Given the description of an element on the screen output the (x, y) to click on. 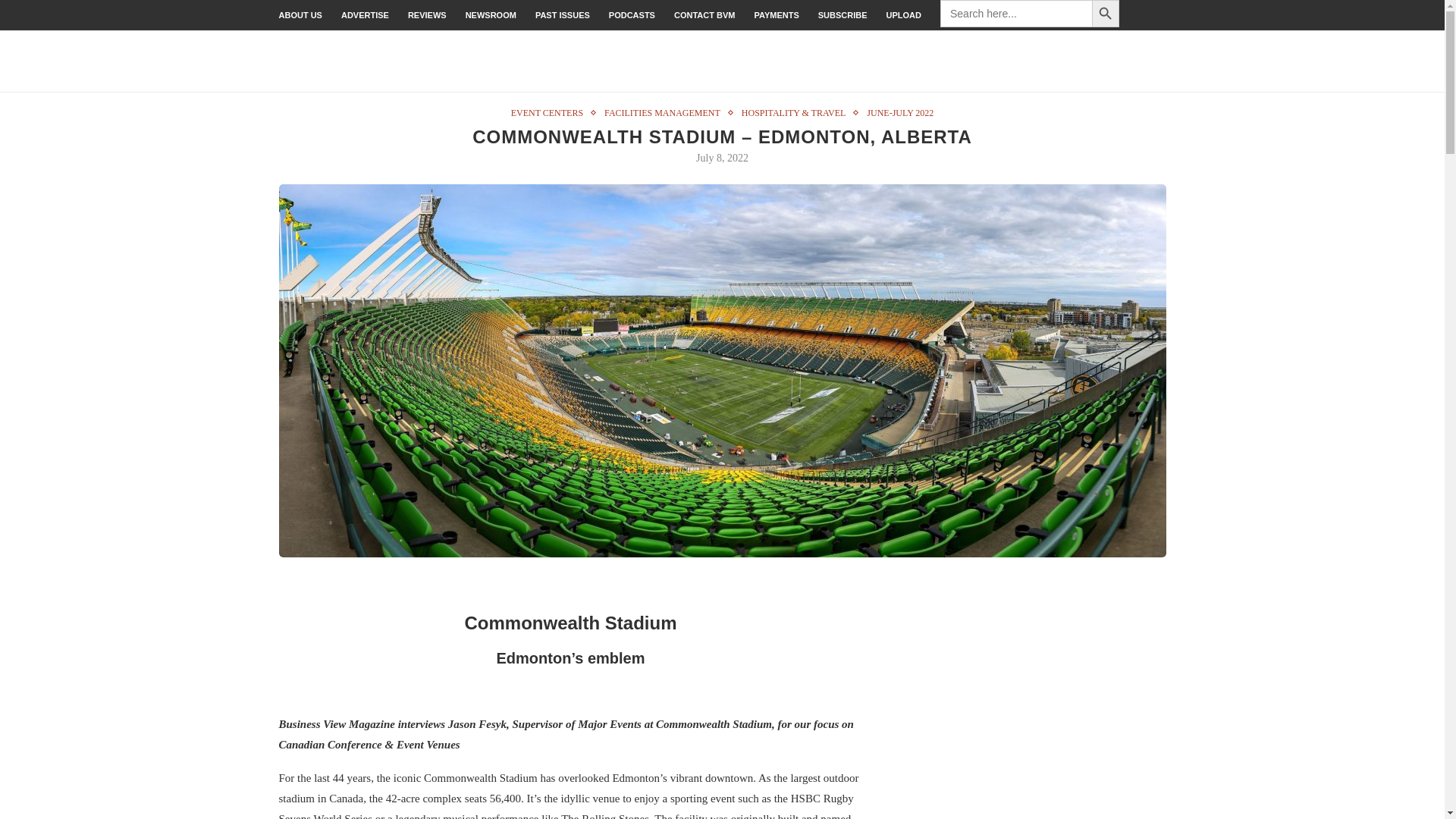
ABOUT US (300, 14)
FACILITIES MANAGEMENT (666, 112)
PODCASTS (631, 14)
Contact BVM (704, 14)
Newsroom (490, 14)
ADVERTISE (364, 14)
View all posts in Event Centers (551, 112)
Caribbean (1144, 60)
Search Button (1105, 13)
View all posts in June-July 2022 (899, 112)
NEWSROOM (490, 14)
EVENT CENTERS (551, 112)
Subscribe (842, 14)
UPLOAD (903, 14)
PAST ISSUES (562, 14)
